Given the description of an element on the screen output the (x, y) to click on. 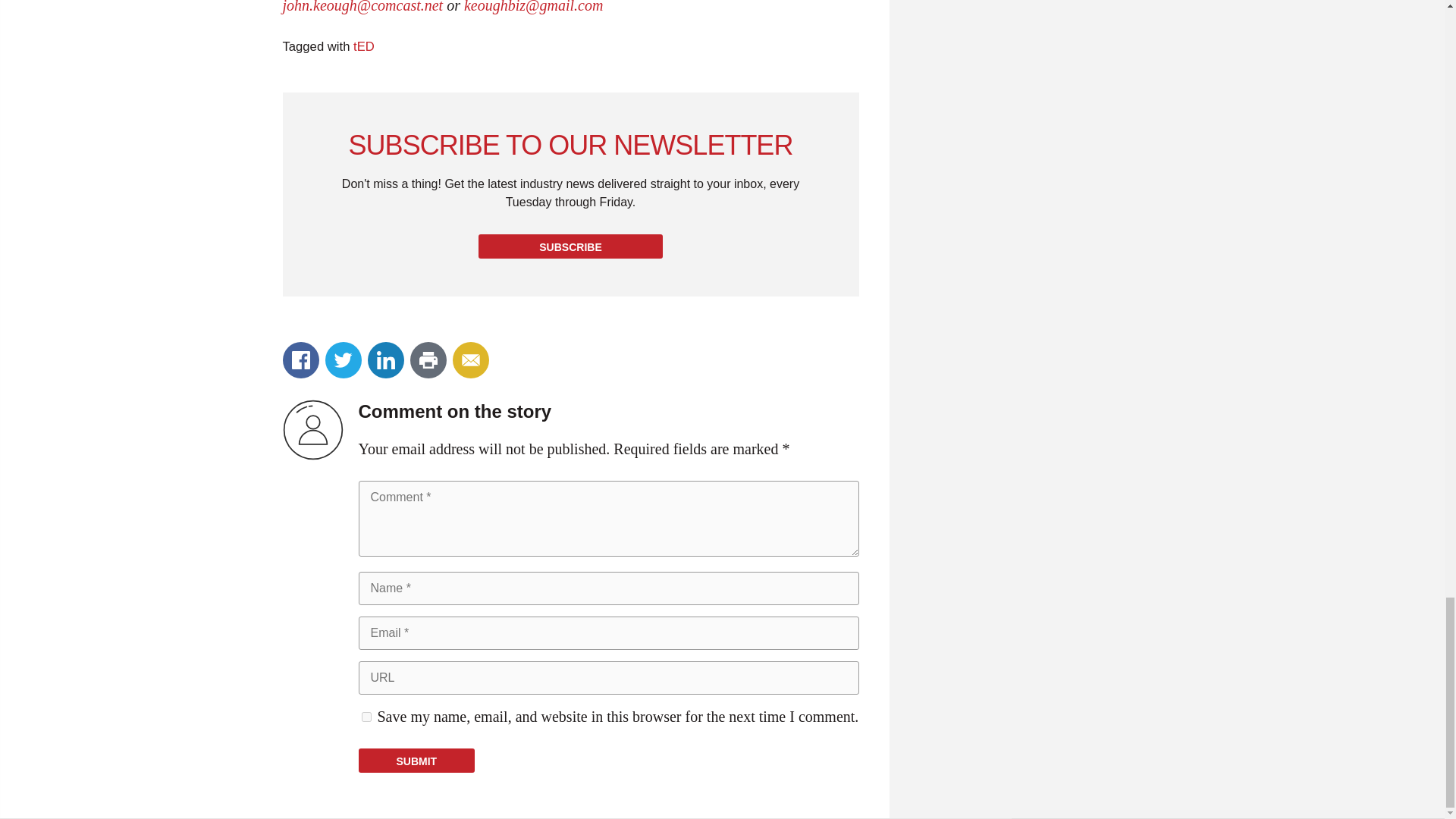
yes (366, 716)
Submit (416, 760)
